Given the description of an element on the screen output the (x, y) to click on. 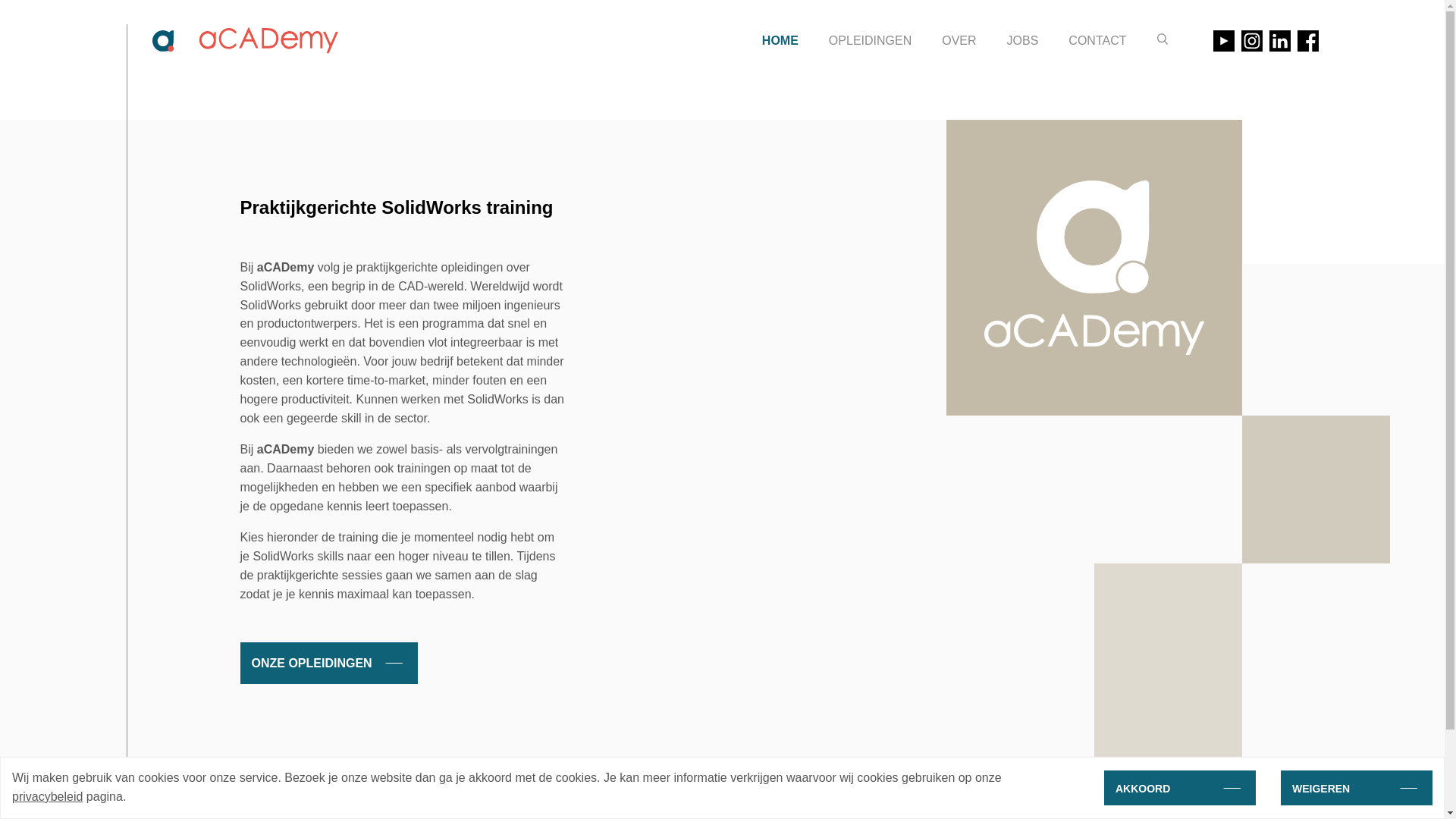
OPLEIDINGEN Element type: text (869, 40)
ONZE OPLEIDINGEN Element type: text (328, 663)
privacybeleid Element type: text (47, 796)
Home Element type: hover (239, 40)
WEIGEREN Element type: text (1356, 787)
Bezoek onze Instagram pagina Element type: hover (1250, 40)
OVER Element type: text (958, 40)
Bezoek onze LinkedIn pagina Element type: hover (1279, 40)
HOME Element type: text (780, 40)
AKKOORD Element type: text (1179, 787)
Bezoek onze Facebook pagina Element type: hover (1306, 40)
Bezoek onze Youtube pagina Element type: hover (1223, 40)
CONTACT Element type: text (1097, 40)
JOBS Element type: text (1022, 40)
Zoeken Element type: hover (1162, 38)
